Given the description of an element on the screen output the (x, y) to click on. 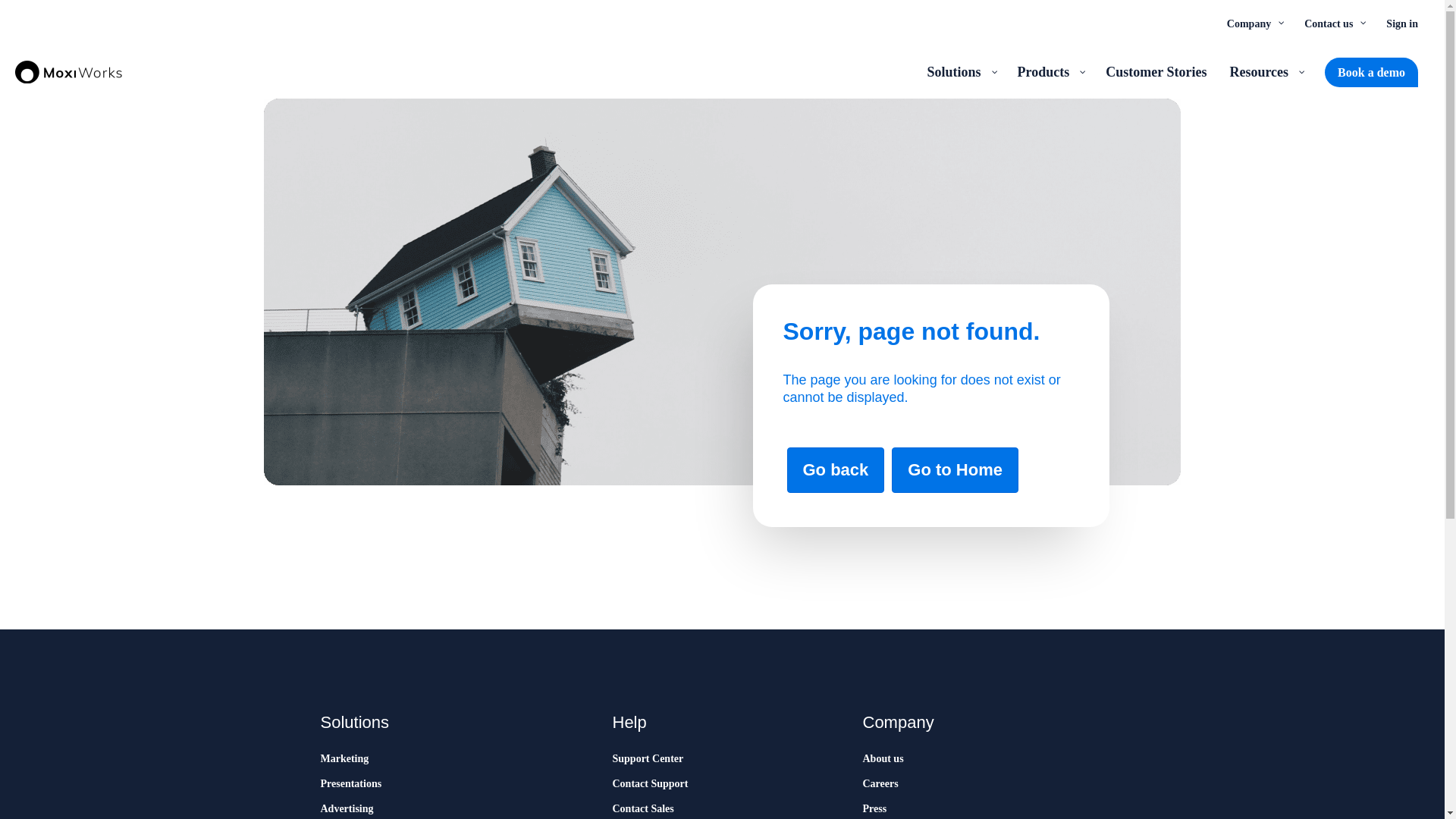
Sign in (1401, 22)
Products (1050, 72)
Company (1253, 22)
Contact us (1333, 22)
Solutions (960, 72)
